Given the description of an element on the screen output the (x, y) to click on. 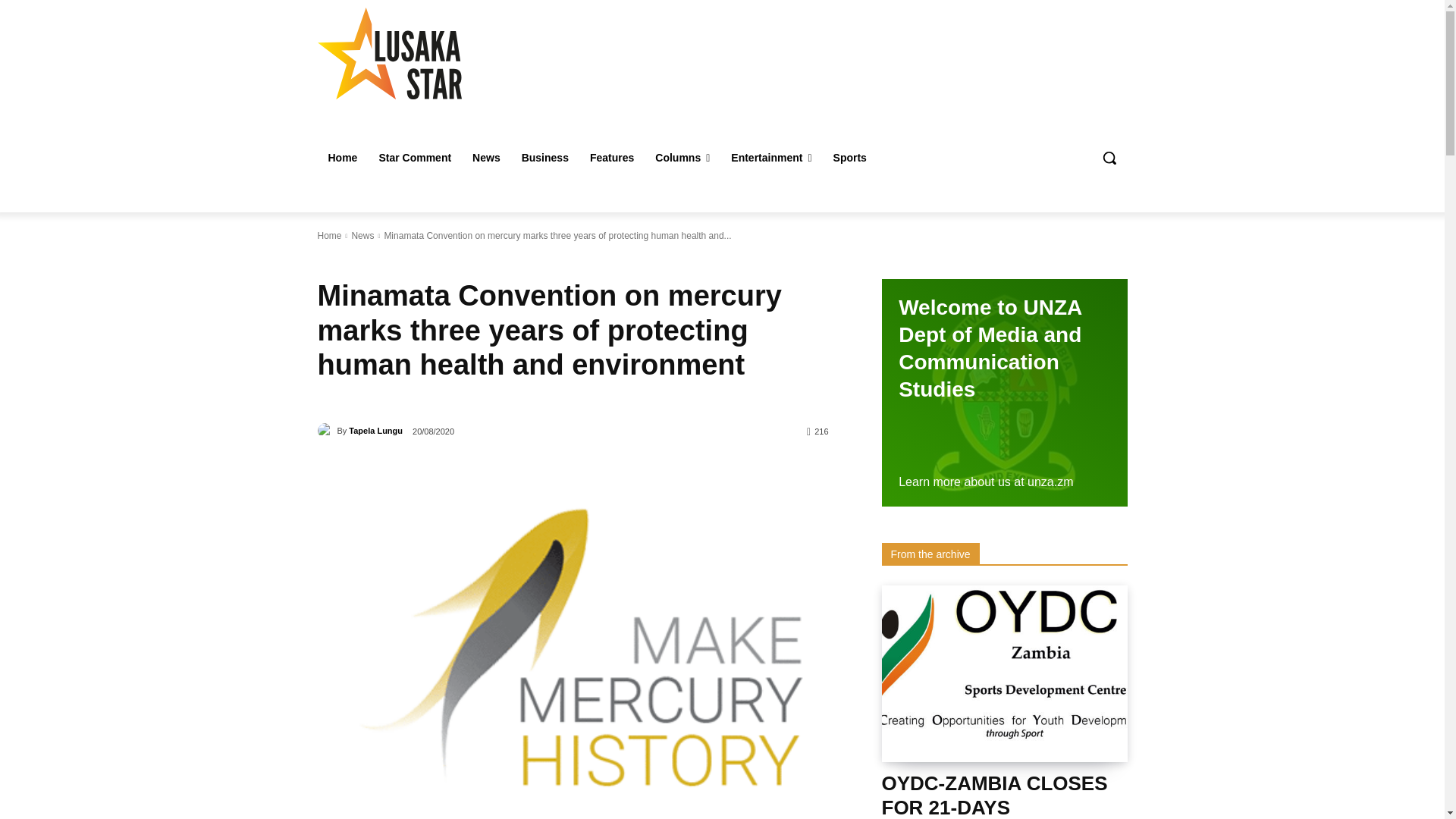
View all posts in News (362, 235)
Lusaka Star - Service with Excellence  (425, 53)
Sports (849, 157)
Columns (682, 157)
Entertainment (771, 157)
News (486, 157)
Business (545, 157)
Home (342, 157)
Features (612, 157)
Star Comment (414, 157)
